Given the description of an element on the screen output the (x, y) to click on. 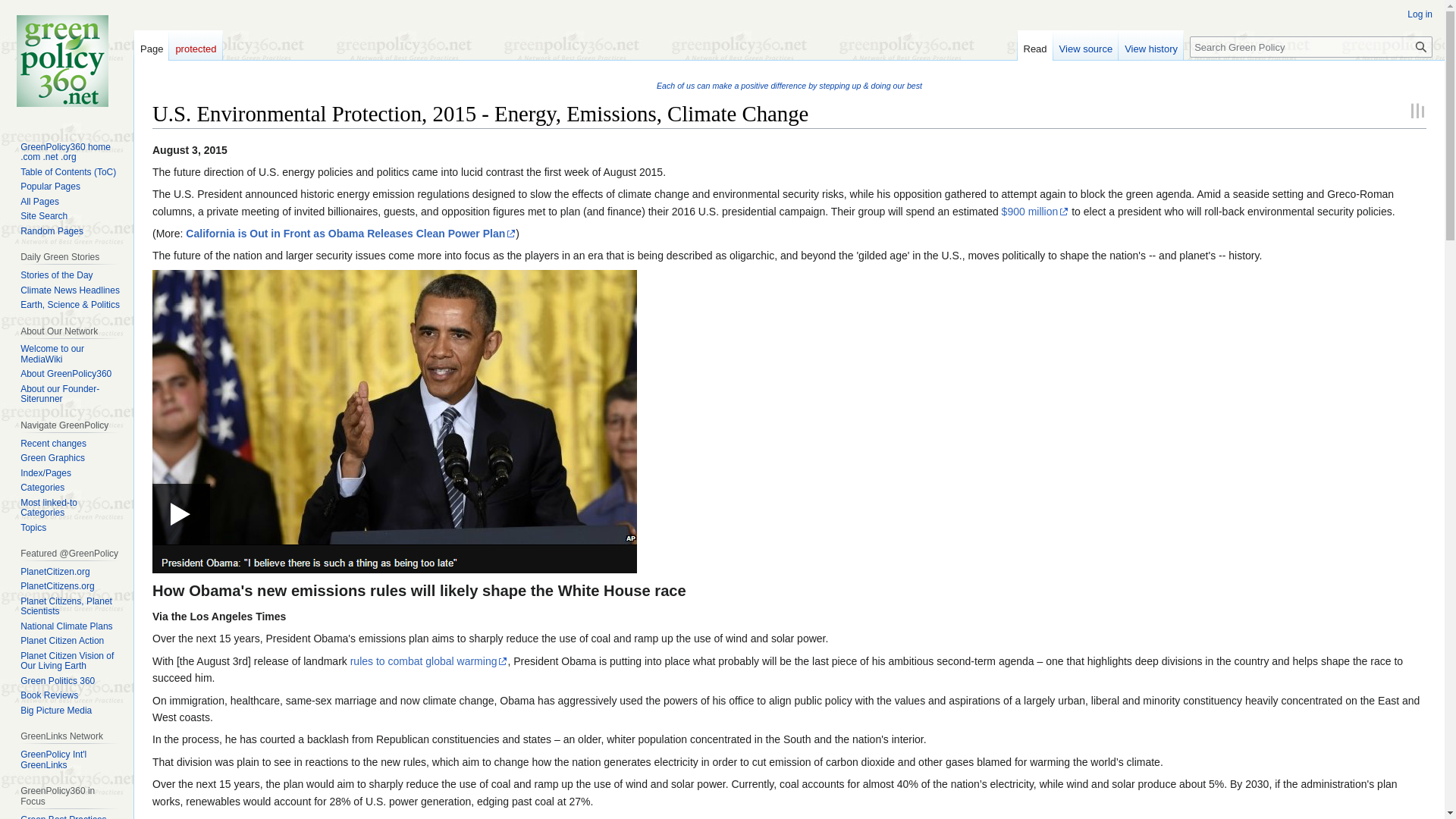
Search (1420, 46)
rules to combat global warming (429, 661)
Search (1420, 46)
Go (1420, 46)
Go (1420, 46)
